Given the description of an element on the screen output the (x, y) to click on. 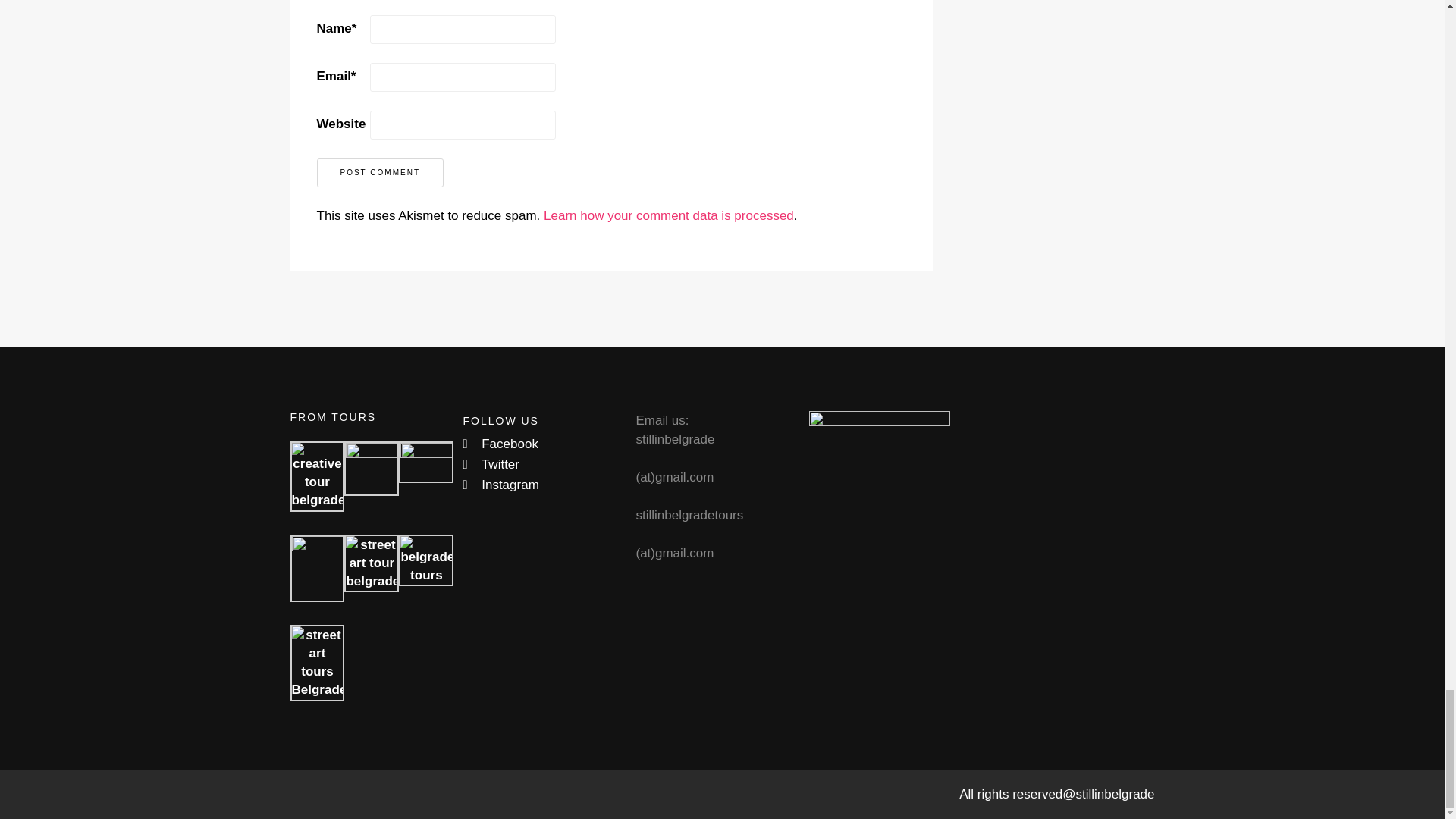
Post comment (380, 172)
